Given the description of an element on the screen output the (x, y) to click on. 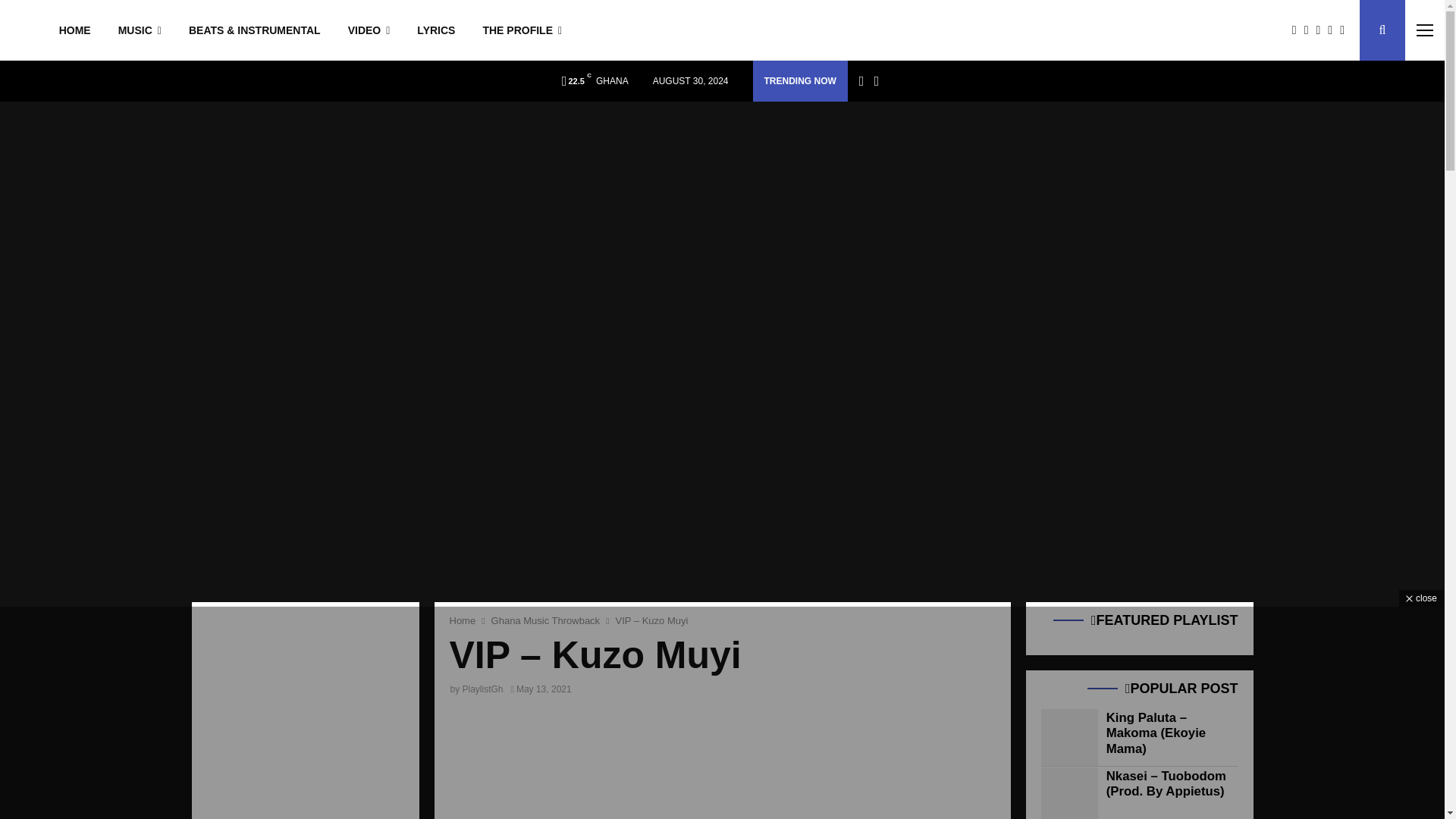
VIDEO (369, 30)
MUSIC (139, 30)
HOME (74, 30)
